Given the description of an element on the screen output the (x, y) to click on. 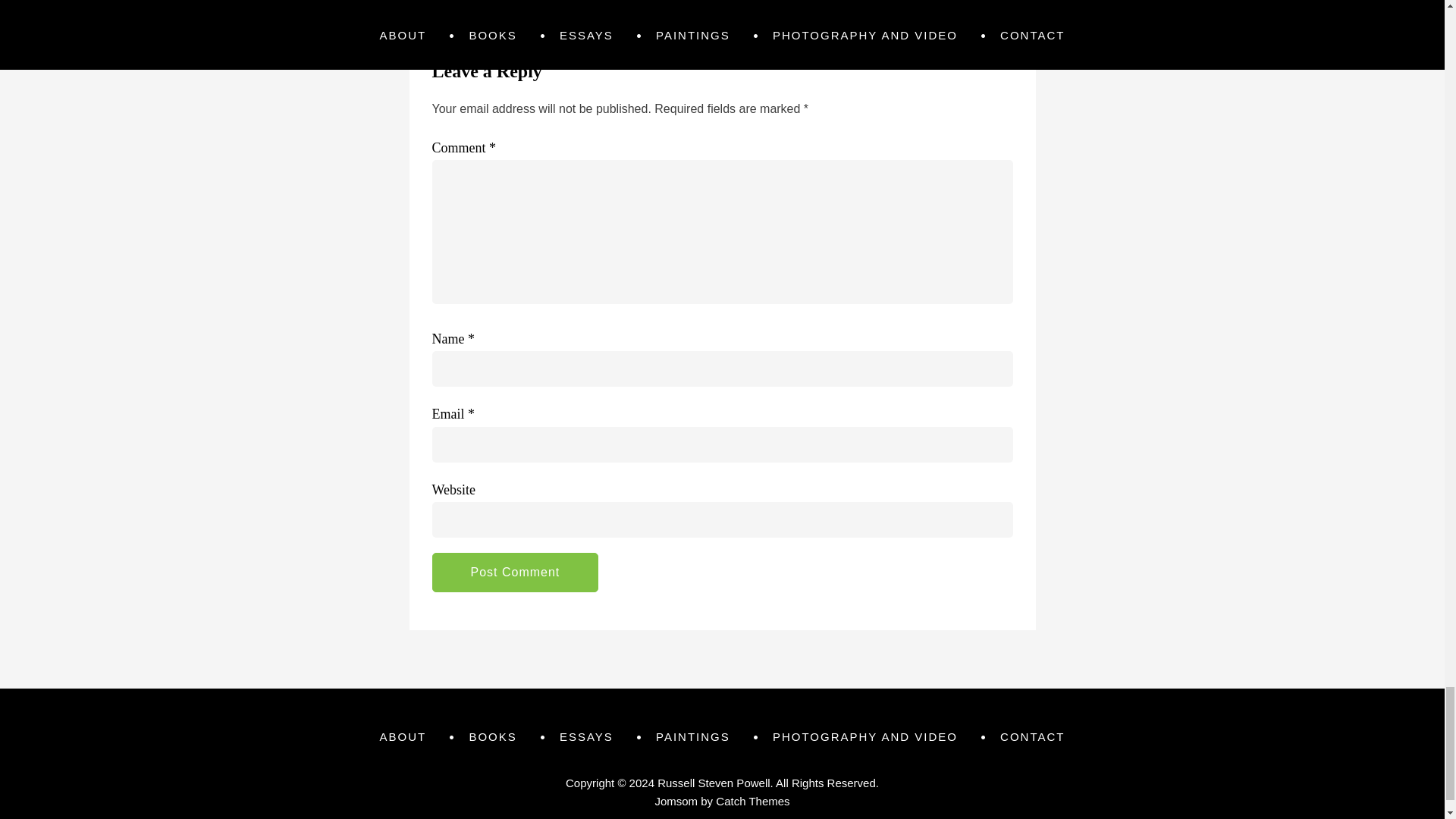
Post Comment (515, 572)
